Given the description of an element on the screen output the (x, y) to click on. 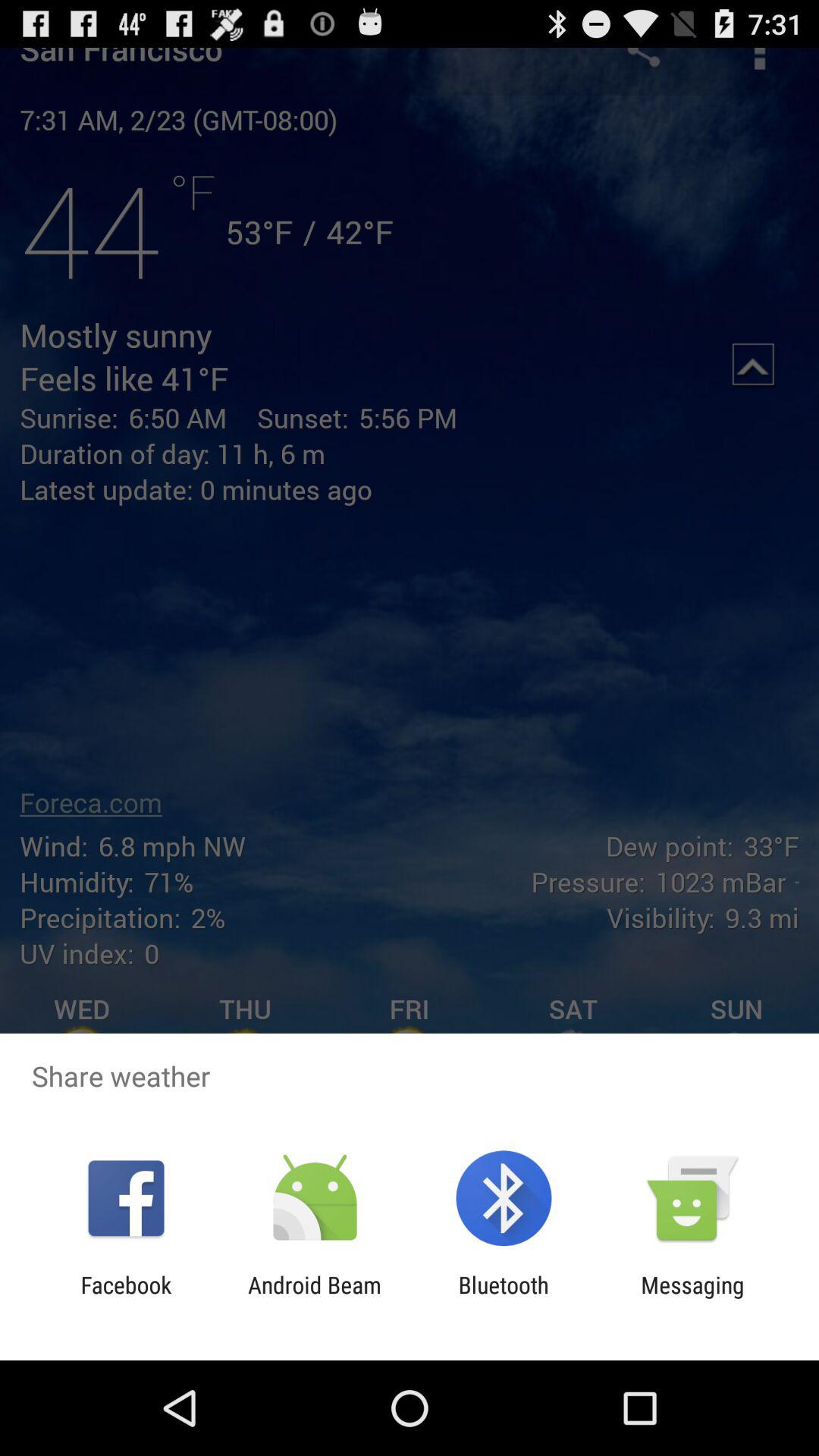
turn on the icon next to android beam app (503, 1298)
